Given the description of an element on the screen output the (x, y) to click on. 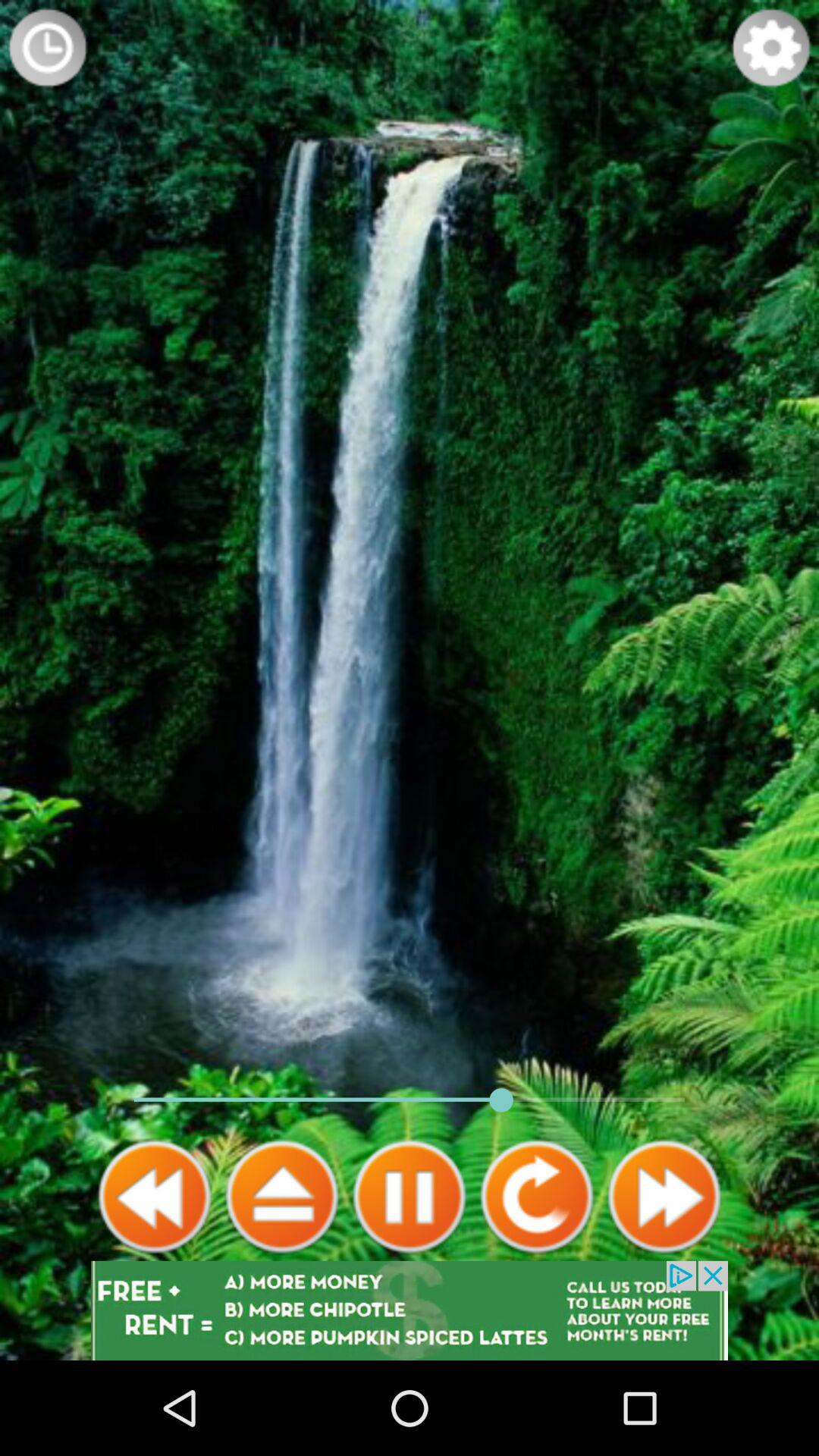
go to timer (47, 47)
